Given the description of an element on the screen output the (x, y) to click on. 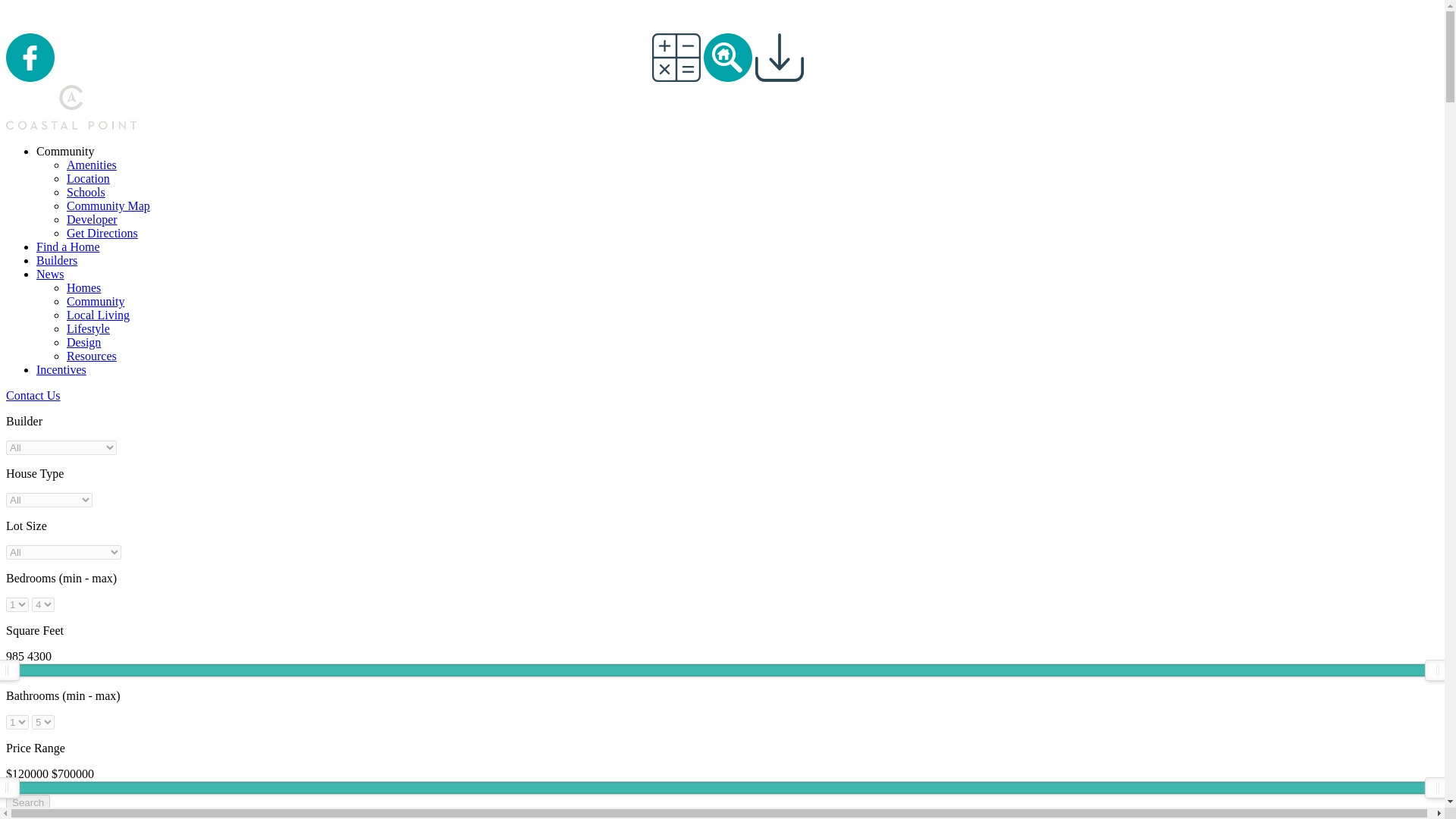
Homes (83, 287)
Developer (91, 219)
Incentives (60, 369)
Find a Home (68, 246)
Get Directions (102, 232)
Search (27, 802)
Community Map (107, 205)
Resources (91, 355)
Search (27, 802)
Lifestyle (88, 328)
Design (83, 341)
Builders (56, 259)
Local Living (97, 314)
Contact Us (33, 395)
Community (94, 300)
